Given the description of an element on the screen output the (x, y) to click on. 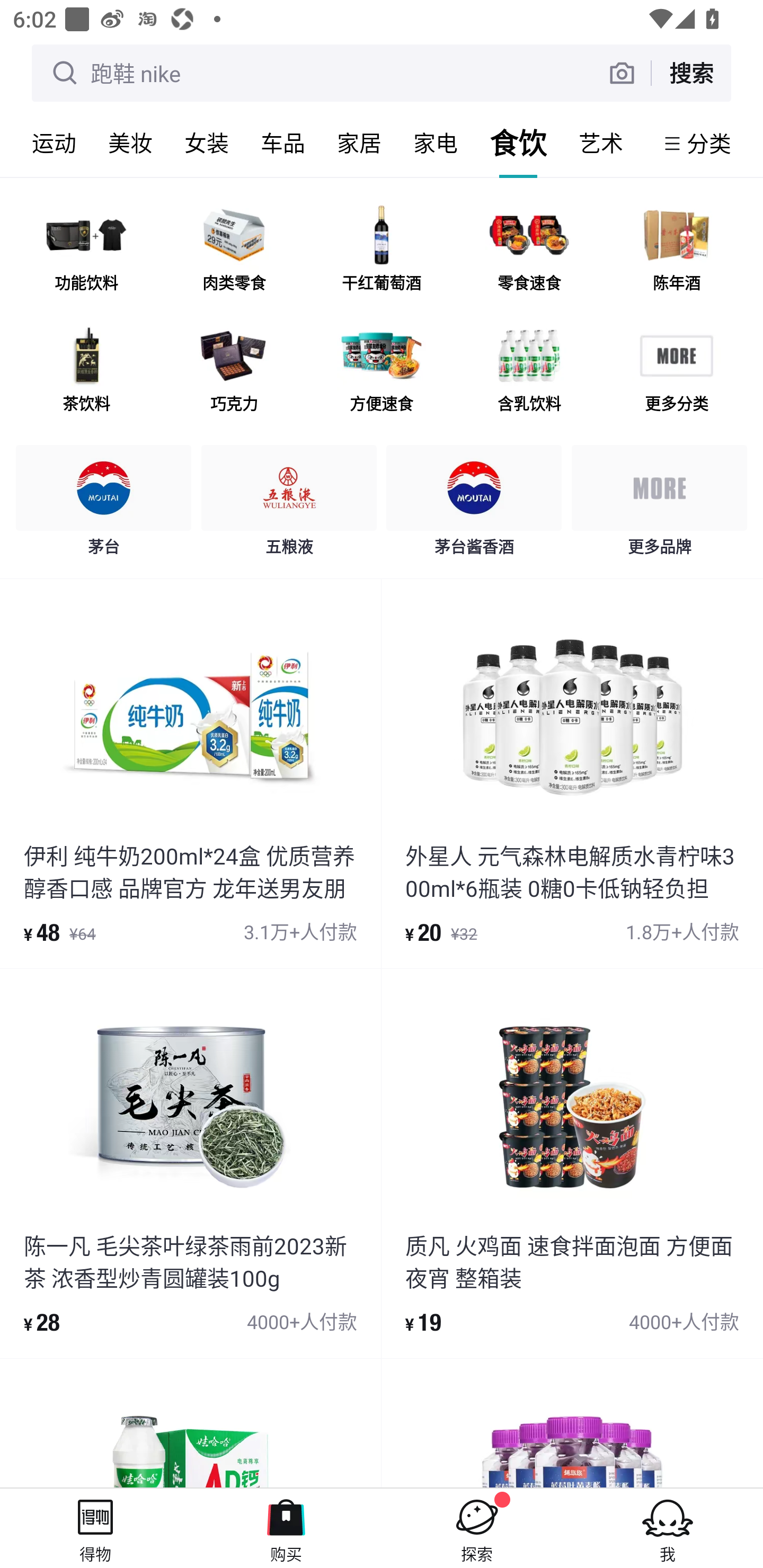
跑鞋 nike 搜索 (381, 72)
搜索 (690, 72)
运动 (54, 143)
美妆 (130, 143)
女装 (206, 143)
车品 (282, 143)
家居 (359, 143)
家电 (435, 143)
食饮 (518, 143)
艺术 (601, 143)
分类 (708, 143)
功能饮料 (86, 251)
肉类零食 (233, 251)
干红葡萄酒 (381, 251)
零食速食 (528, 251)
陈年酒 (676, 251)
茶饮料 (86, 372)
巧克力 (233, 372)
方便速食 (381, 372)
含乳饮料 (528, 372)
更多分类 (676, 372)
茅台 (103, 505)
五粮液 (288, 505)
茅台酱香酒 (473, 505)
更多品牌 (658, 505)
得物 (95, 1528)
购买 (285, 1528)
探索 (476, 1528)
我 (667, 1528)
